Given the description of an element on the screen output the (x, y) to click on. 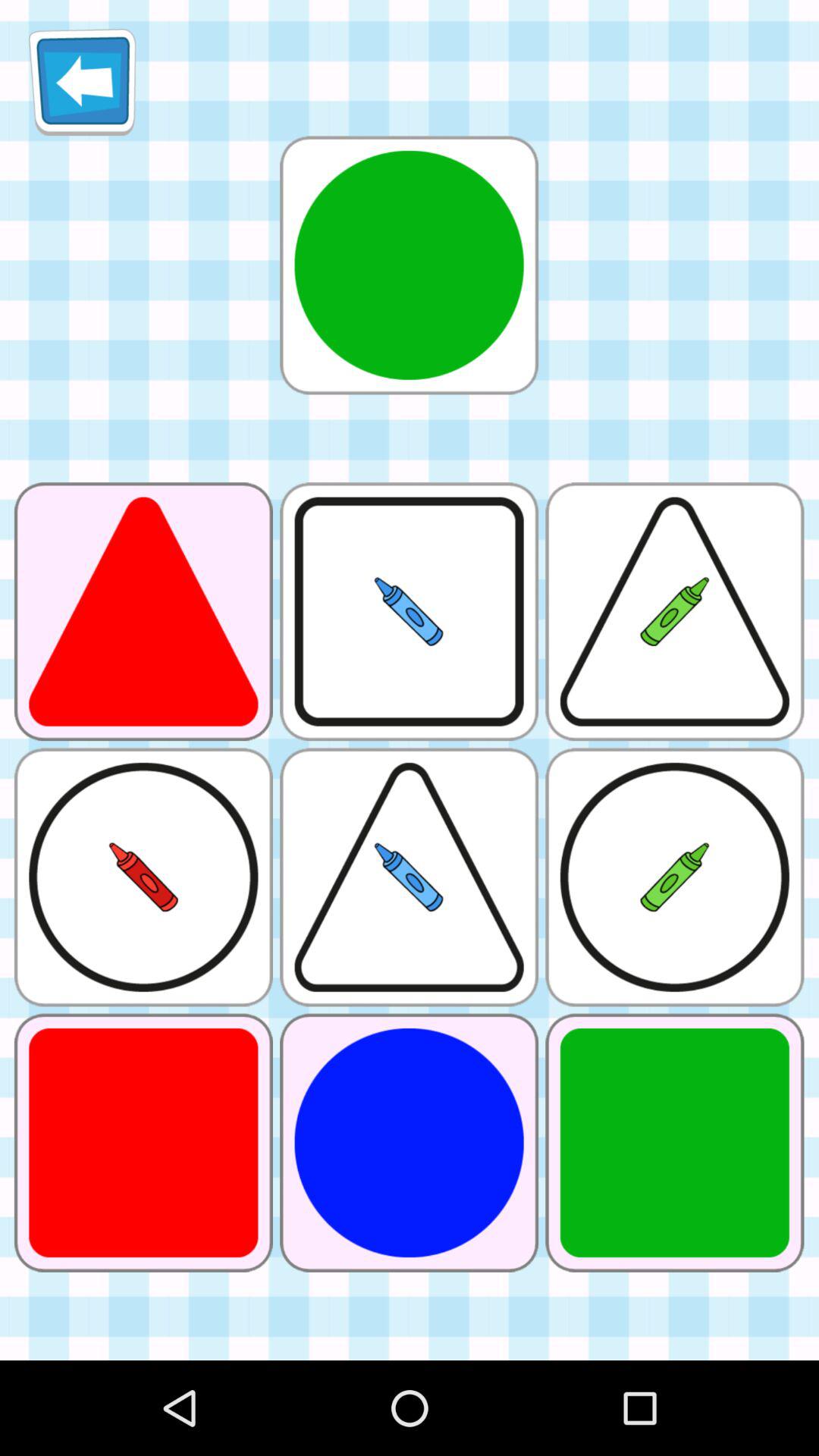
go to previous (82, 82)
